Given the description of an element on the screen output the (x, y) to click on. 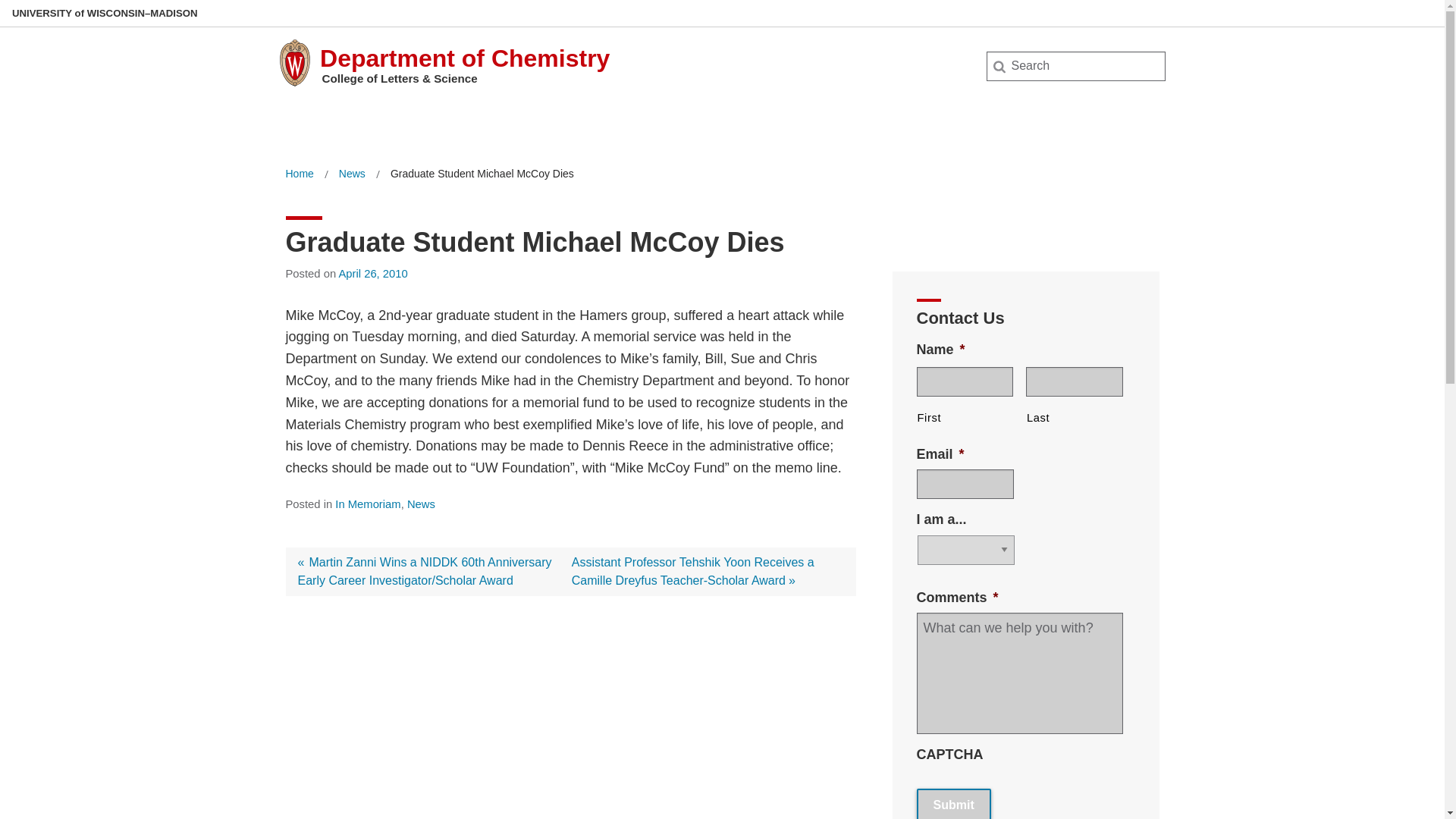
Home (299, 173)
Search (37, 16)
Skip to main content (3, 3)
Graduate Student Michael McCoy Dies (481, 173)
News (352, 173)
Department of Chemistry (465, 58)
Submit (954, 803)
